Given the description of an element on the screen output the (x, y) to click on. 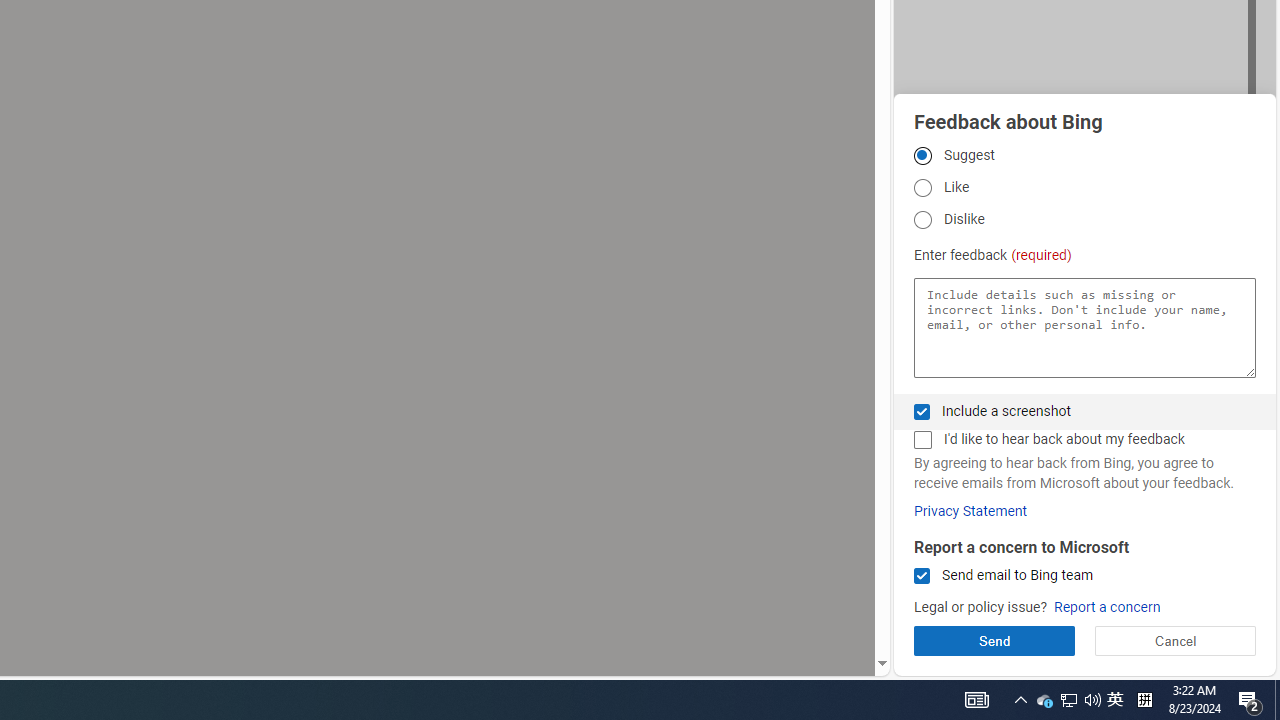
Report a concern (1106, 607)
I'd like to hear back about my feedback (922, 440)
Include a screenshot (921, 411)
Like (922, 188)
Send email to Bing team (921, 575)
Dislike (922, 219)
Privacy Statement (970, 511)
Cancel (1174, 640)
Suggest (922, 155)
Send (994, 640)
